Given the description of an element on the screen output the (x, y) to click on. 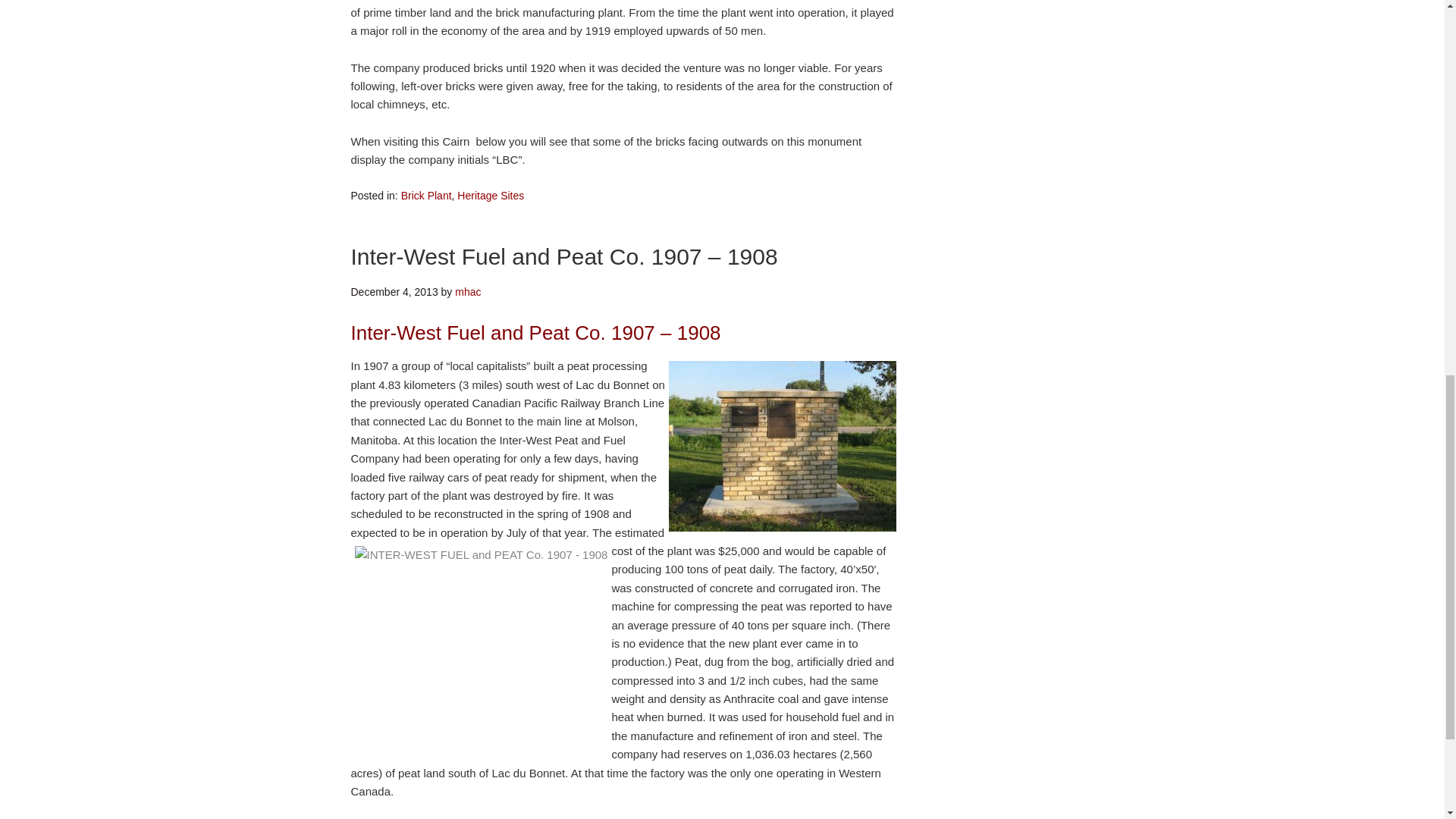
mhac (467, 291)
Heritage Sites (490, 195)
INTER-WEST FUEL and PEAT Co. 1907 - 1908 (782, 446)
Posts by mhac (467, 291)
Wednesday, December 4, 2013, 3:32 pm (394, 291)
INTER-WEST FUEL and PEAT Co. 1907 - 1908 (481, 651)
Brick Plant (426, 195)
